Given the description of an element on the screen output the (x, y) to click on. 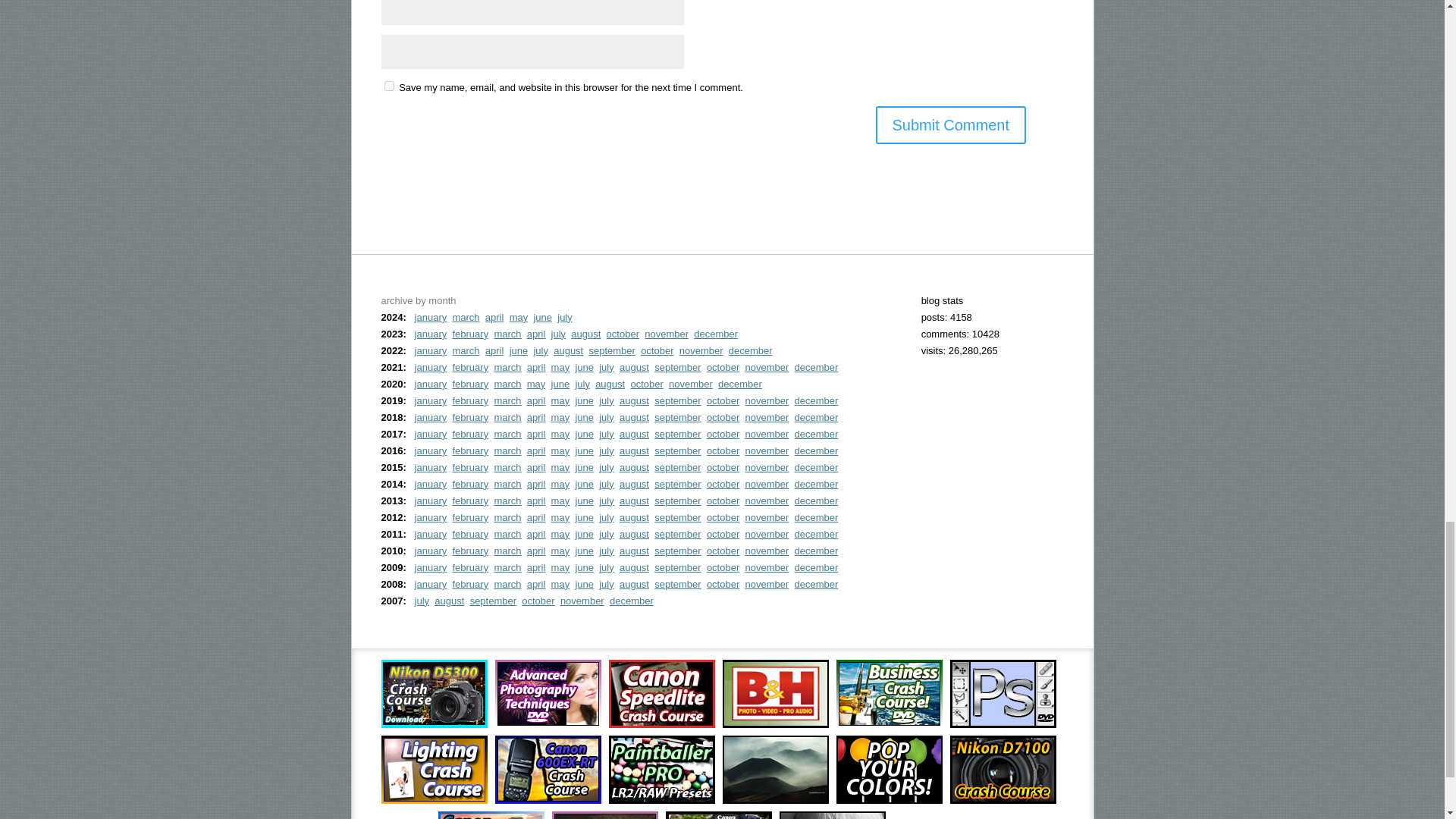
yes (388, 85)
Submit Comment (950, 125)
